Given the description of an element on the screen output the (x, y) to click on. 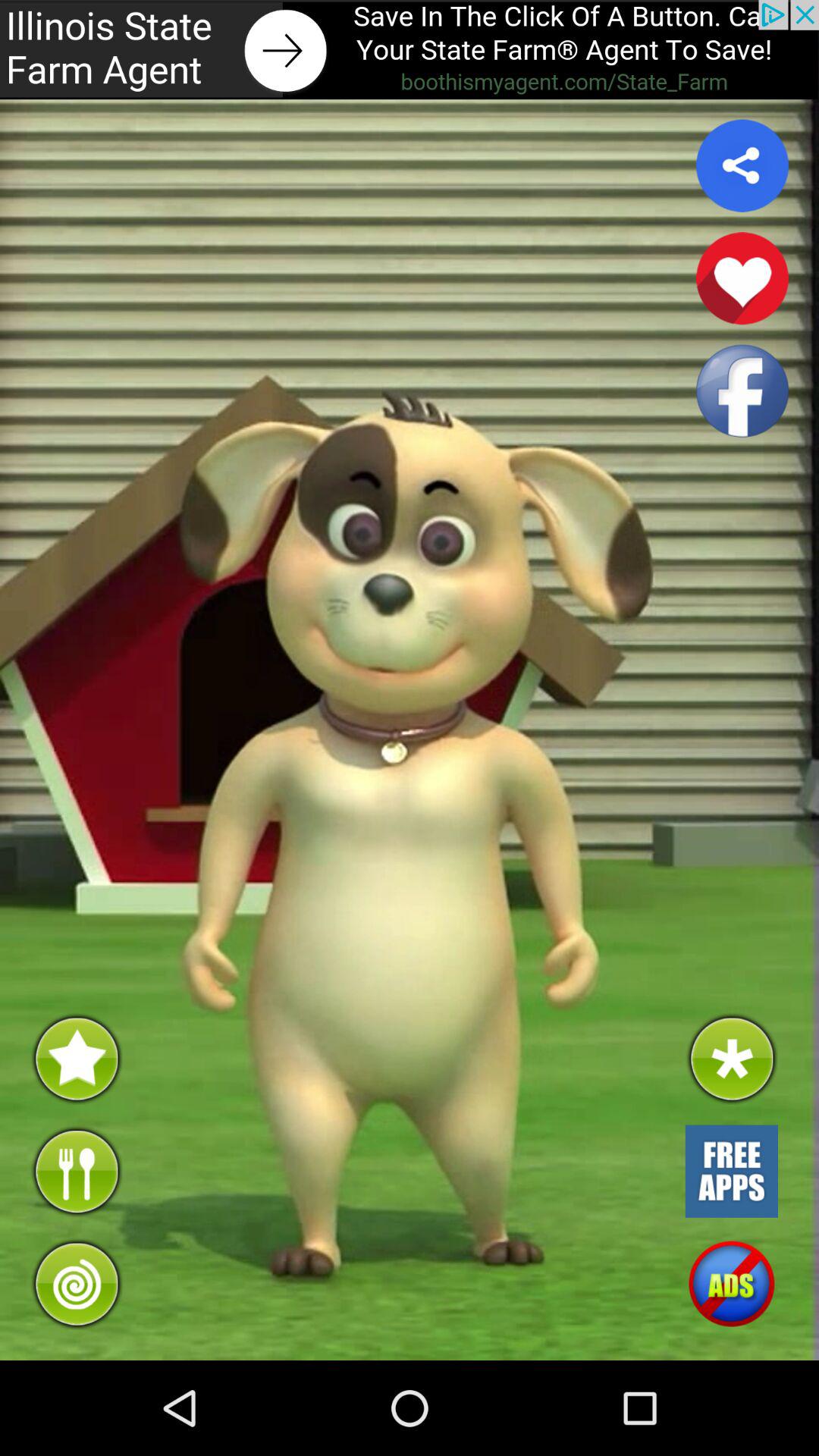
go to advertisement (409, 49)
